Given the description of an element on the screen output the (x, y) to click on. 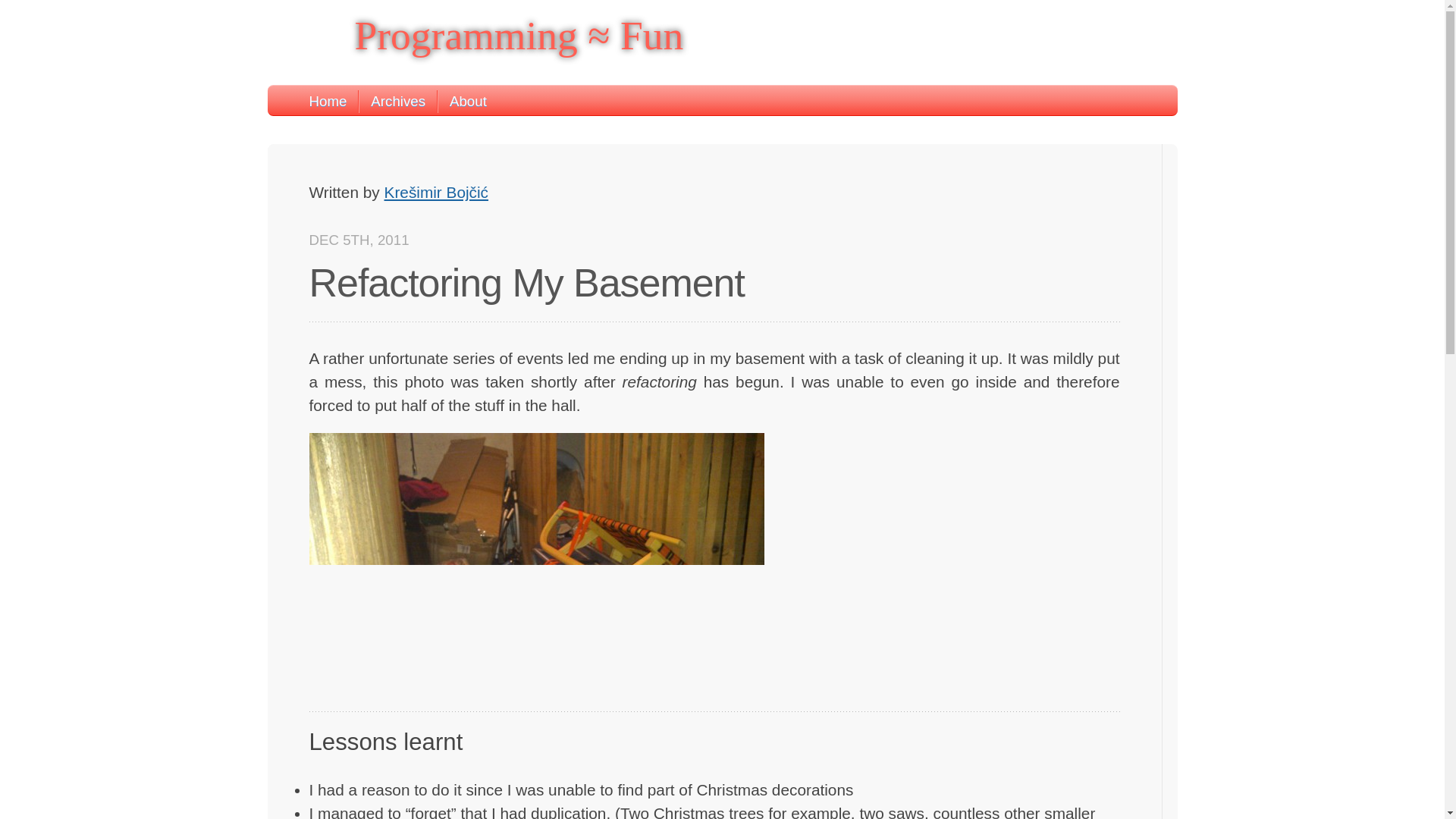
About (462, 101)
Home (327, 101)
Archives (391, 101)
